Given the description of an element on the screen output the (x, y) to click on. 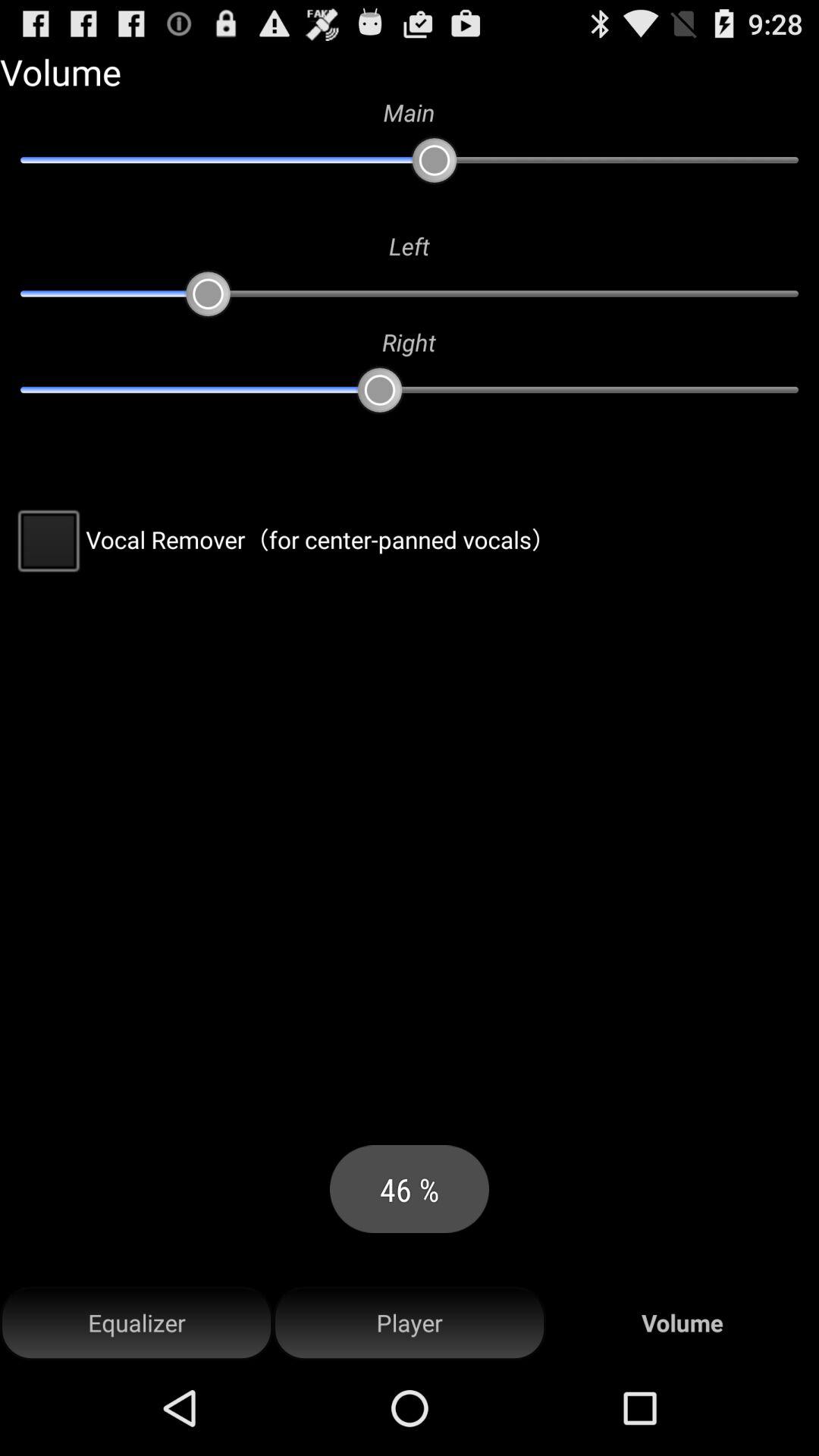
option beside equalizer (409, 1323)
check the box which says vocal remover for centerpanned vocals0 (283, 540)
